Given the description of an element on the screen output the (x, y) to click on. 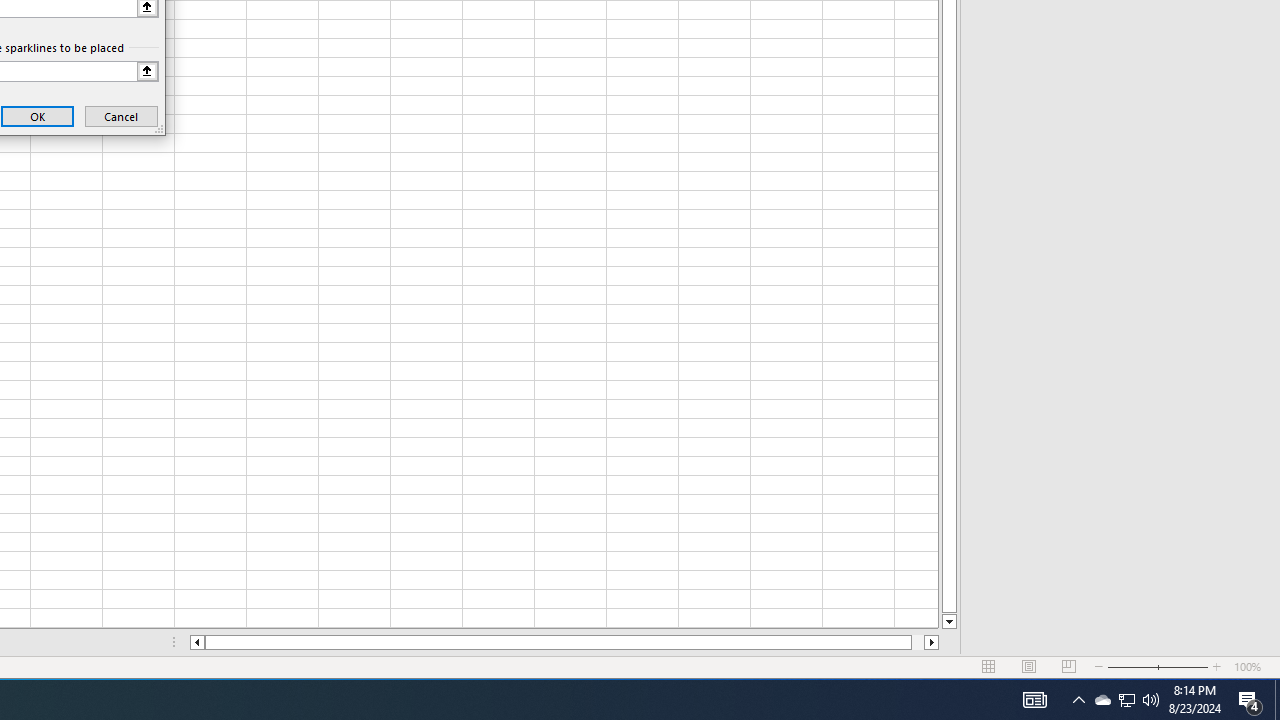
Column left (196, 642)
OK (37, 116)
Normal (988, 667)
Show desktop (1277, 699)
Zoom In (1217, 667)
Notification Chevron (1078, 699)
Line down (948, 622)
Q2790: 100% (1151, 699)
Class: NetUIScrollBar (564, 642)
Column right (932, 642)
User Promoted Notification Area (1126, 699)
Page Break Preview (1069, 667)
AutomationID: 4105 (1034, 699)
Cancel (121, 116)
